Given the description of an element on the screen output the (x, y) to click on. 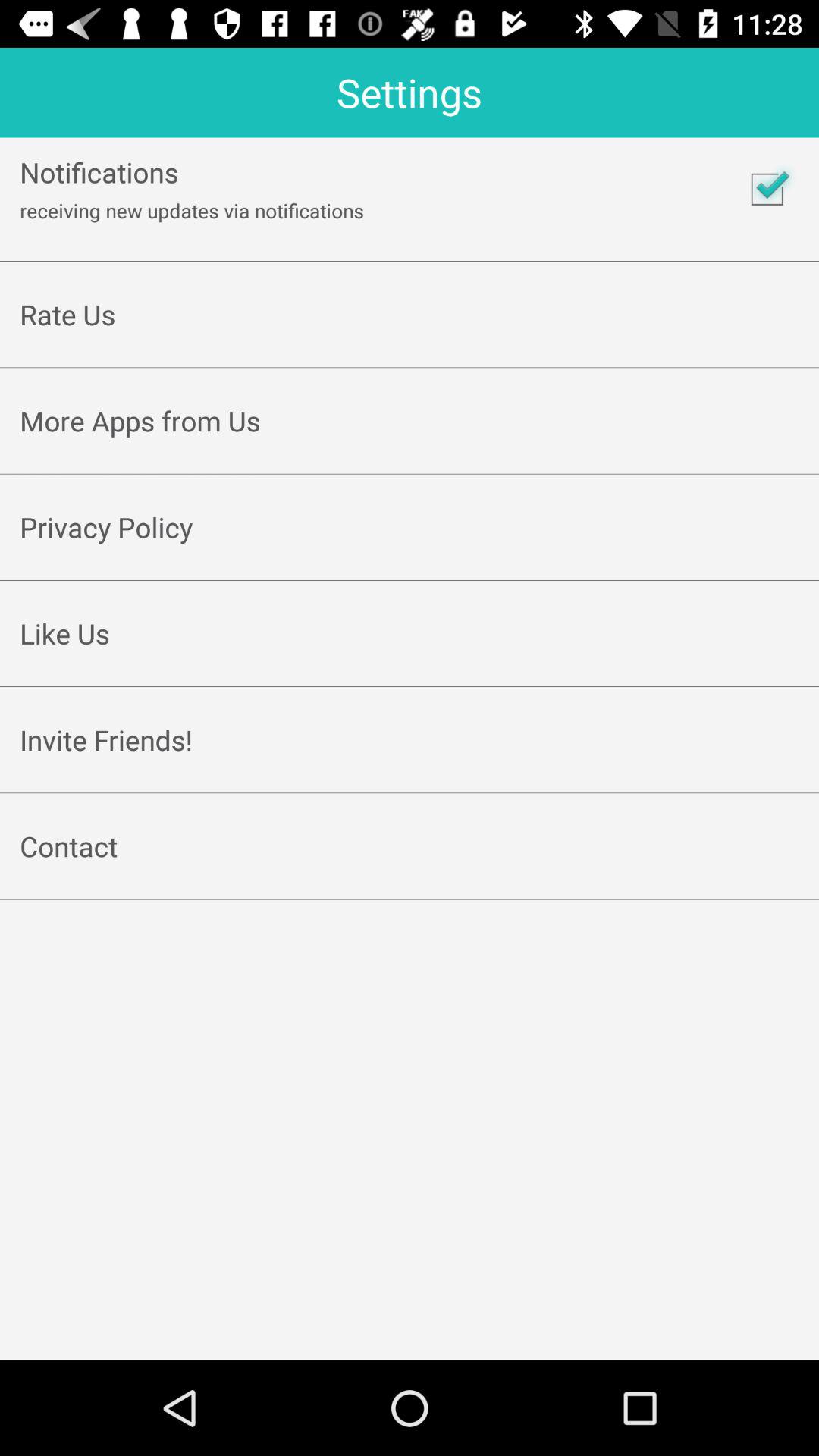
select icon below the contact icon (409, 882)
